Given the description of an element on the screen output the (x, y) to click on. 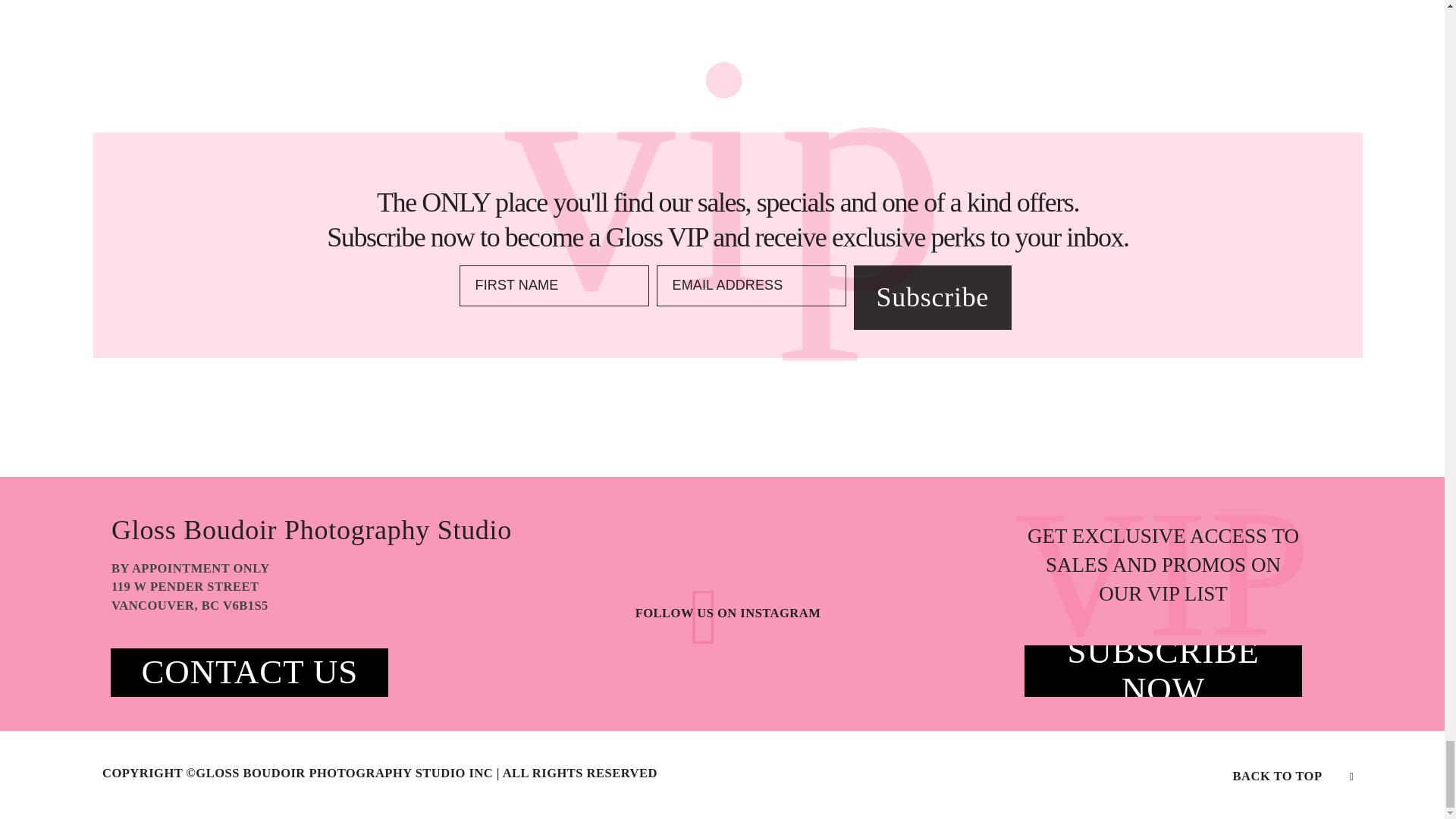
BACK TO TOP (1277, 776)
CONTACT US (249, 672)
SUBSCRIBE NOW (1163, 670)
Subscribe (932, 297)
FOLLOW US ON INSTAGRAM (727, 612)
Gloss Boudoir Photography Studio (322, 530)
BACK TO TOP (1293, 775)
